Given the description of an element on the screen output the (x, y) to click on. 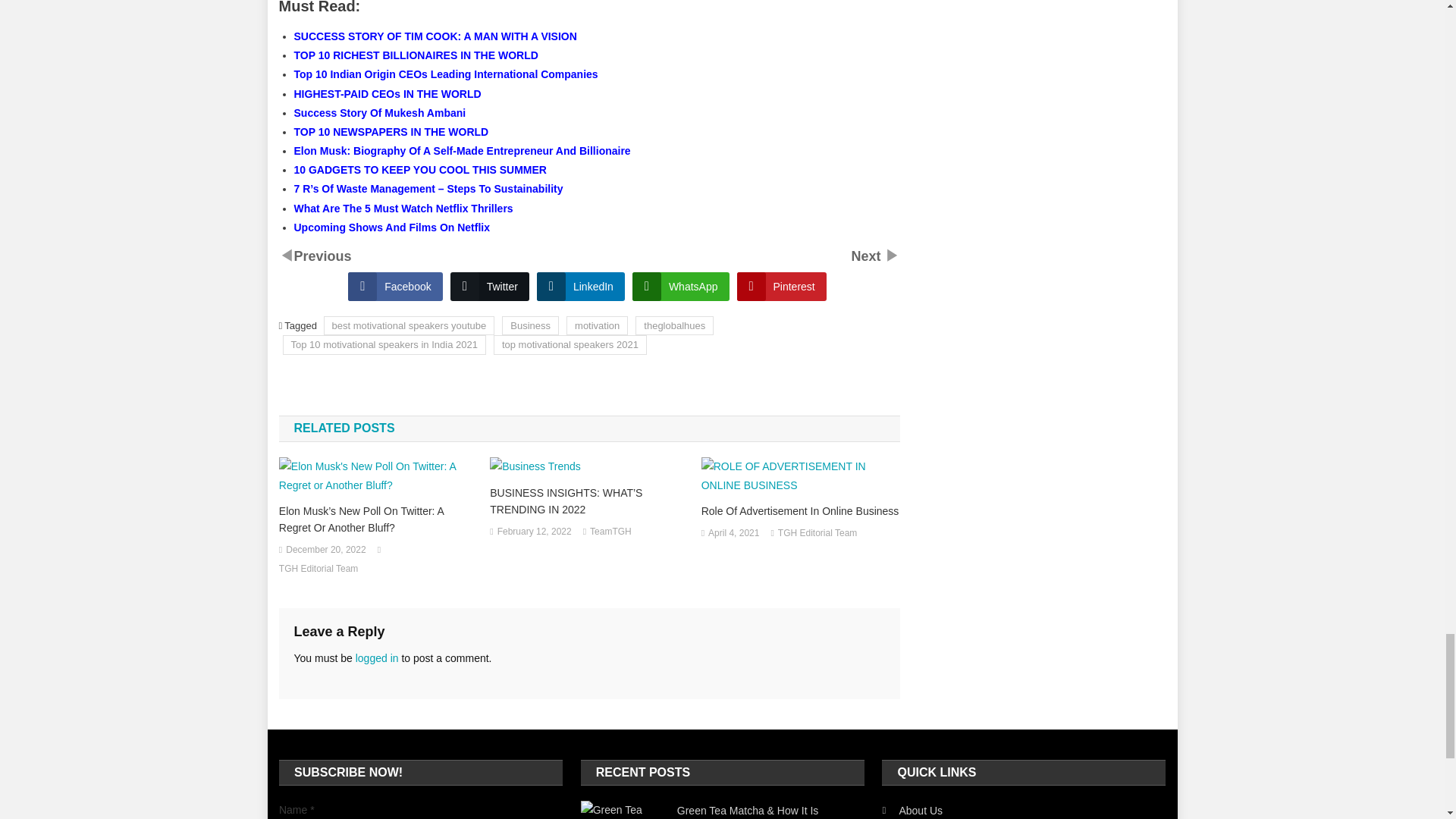
HOW DOES GOOGLE EARN MONEY? (866, 255)
WHY DOES YOUR BUSINESS NEED AN ONLINE PRESENCE? (323, 255)
